Given the description of an element on the screen output the (x, y) to click on. 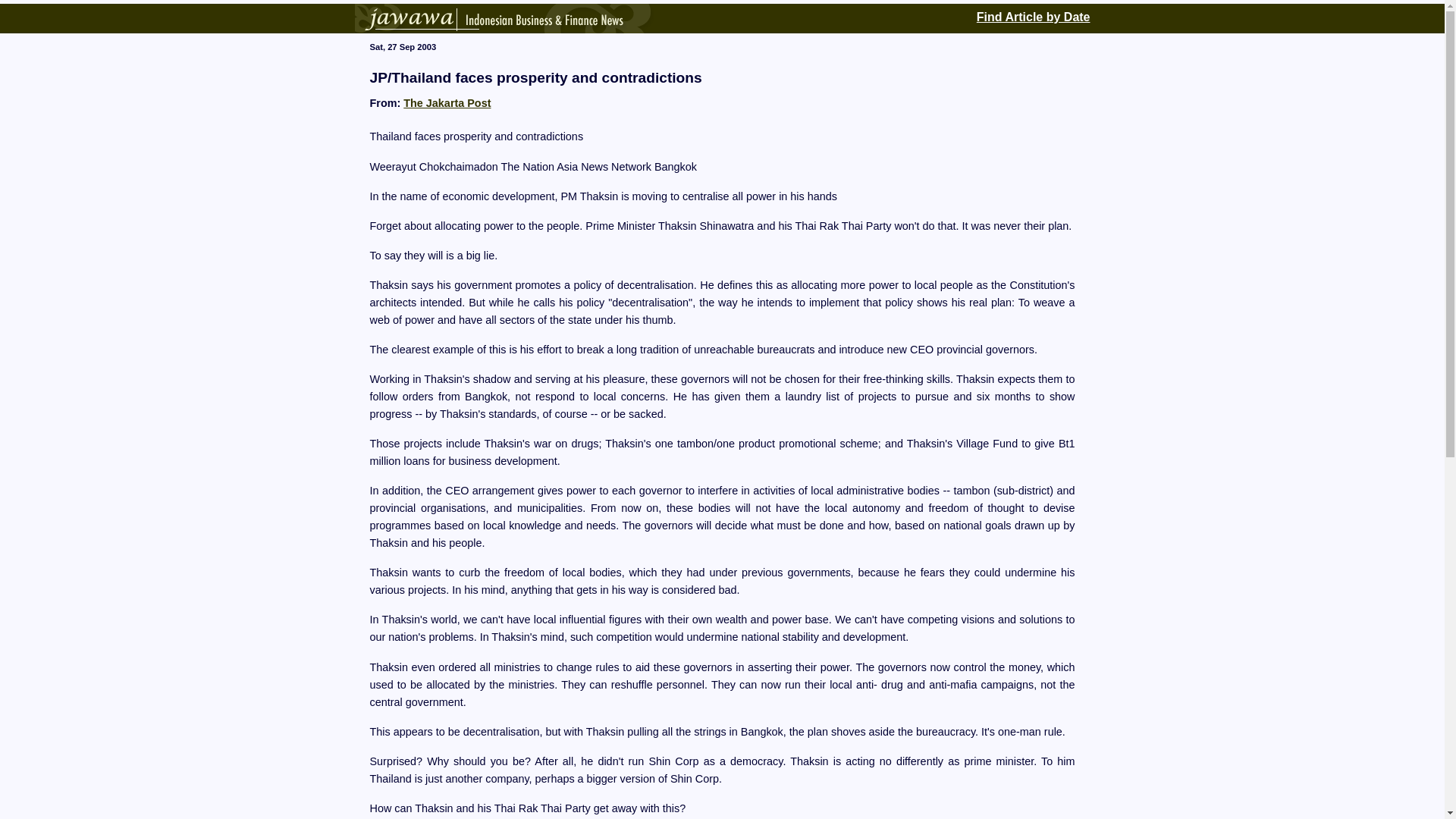
Find Article by Date (1033, 15)
The Jakarta Post (446, 102)
